Given the description of an element on the screen output the (x, y) to click on. 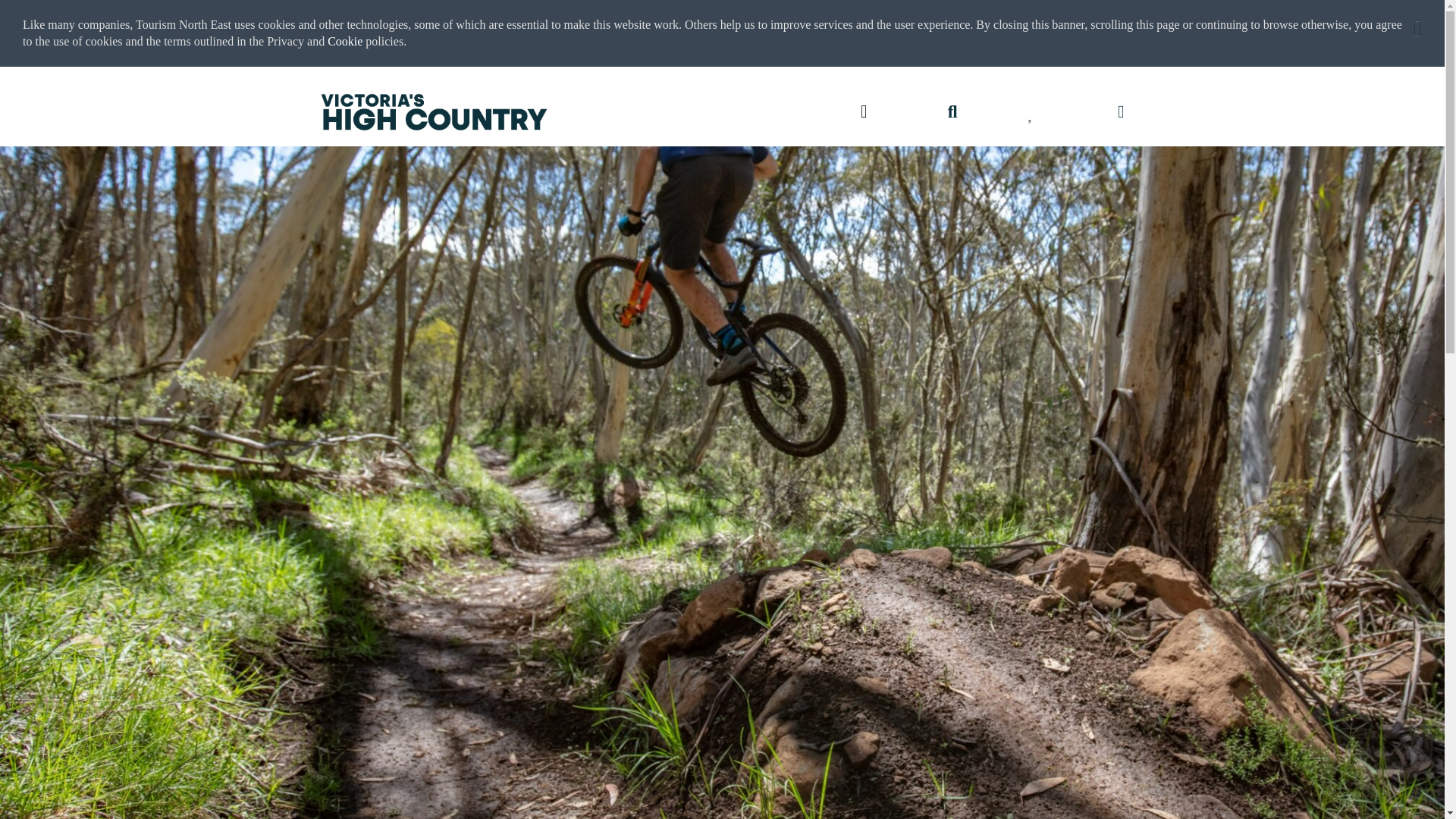
Like and share your Wishlist (1031, 110)
Cookie (344, 41)
VHC-Logo-Horizontal-DarkGreen-v2 (433, 112)
Privacy (286, 41)
